Given the description of an element on the screen output the (x, y) to click on. 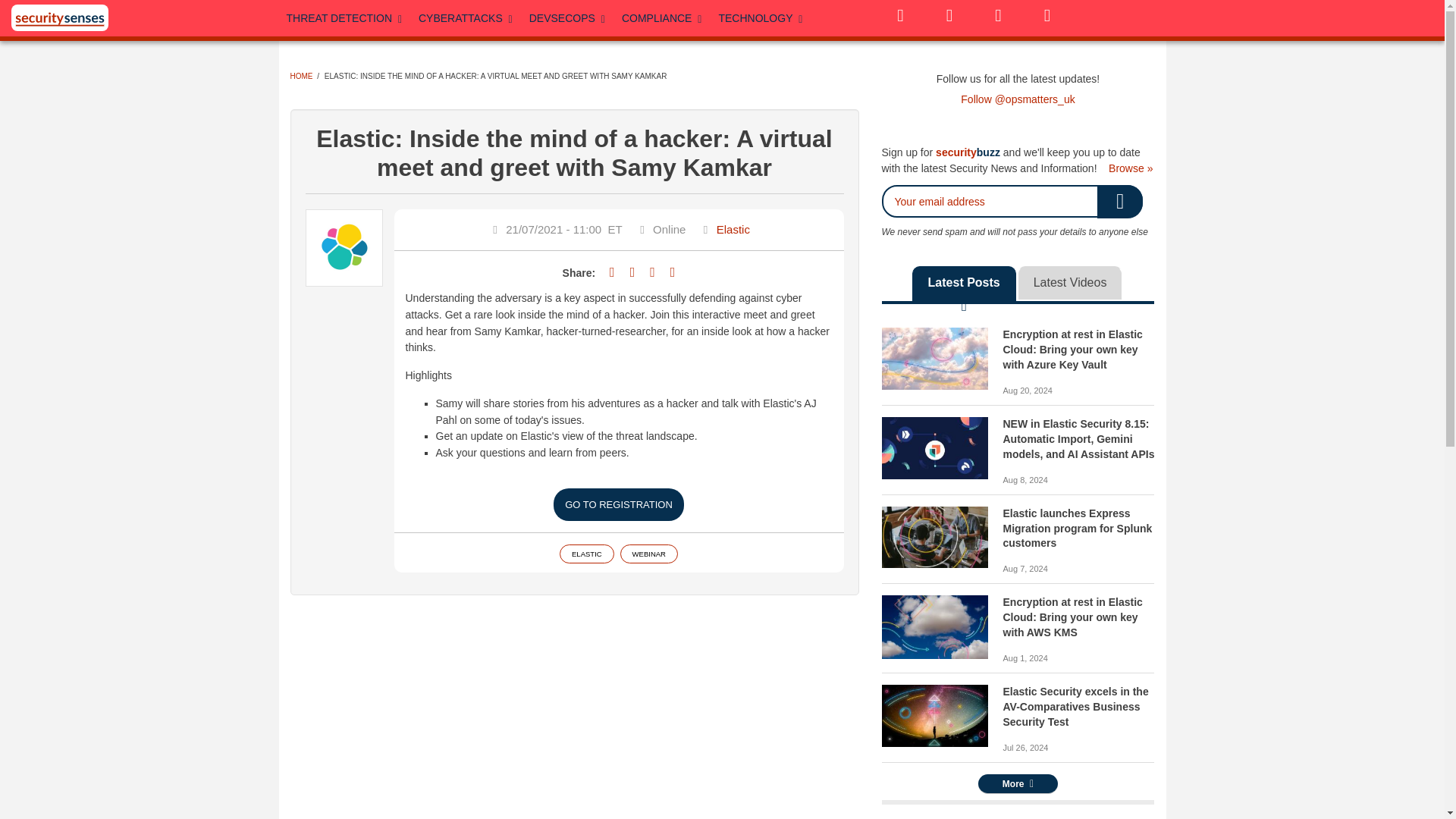
DEVSECOPS (567, 18)
elastic (933, 715)
THREAT DETECTION (345, 18)
COMPLIANCE (662, 18)
Home (59, 17)
elastic (933, 358)
elastic (933, 447)
TECHNOLOGY (760, 18)
facebook (949, 15)
